Given the description of an element on the screen output the (x, y) to click on. 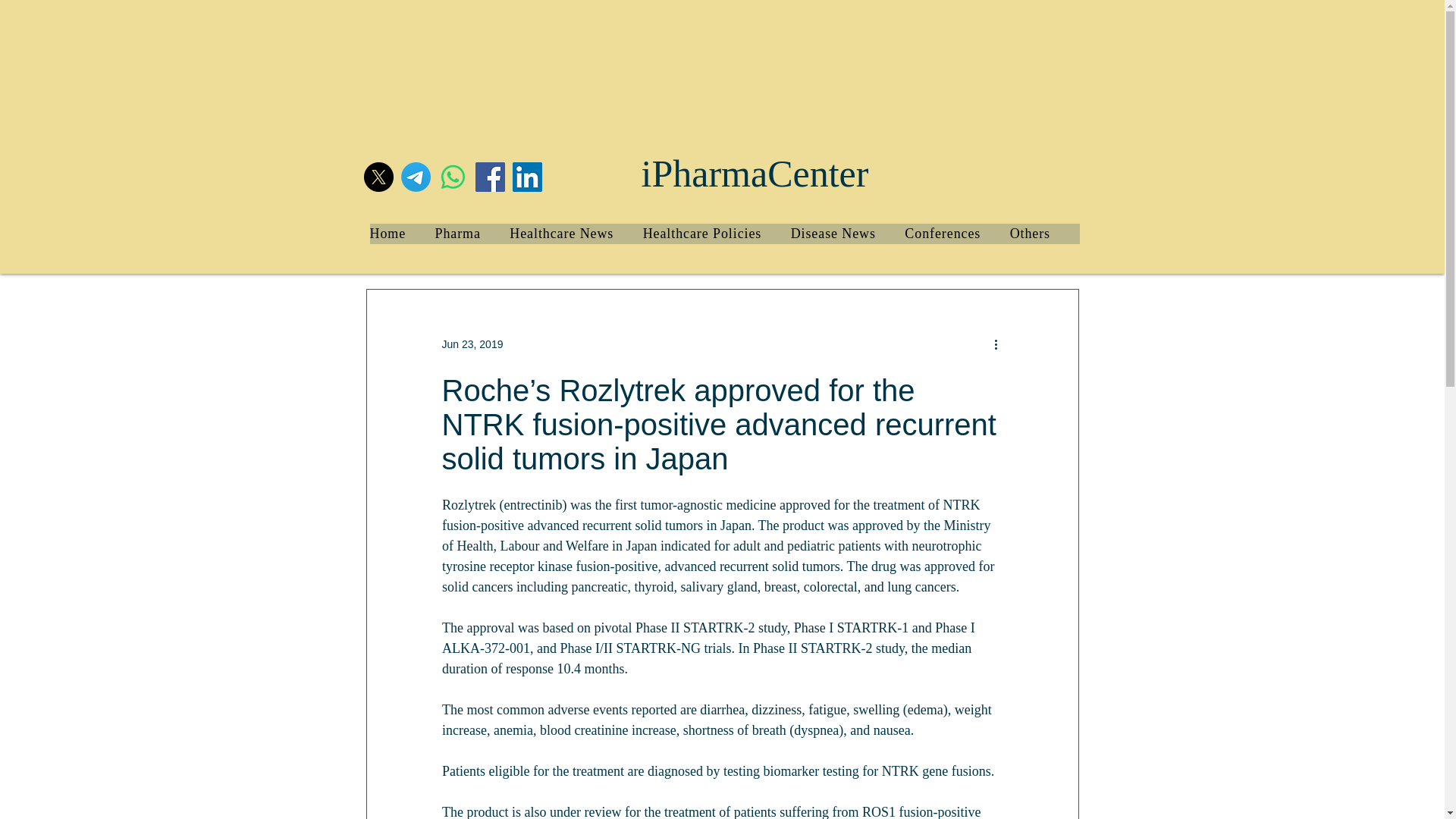
Healthcare Policies (716, 233)
Jun 23, 2019 (471, 344)
Conferences (956, 233)
Home (402, 233)
